Given the description of an element on the screen output the (x, y) to click on. 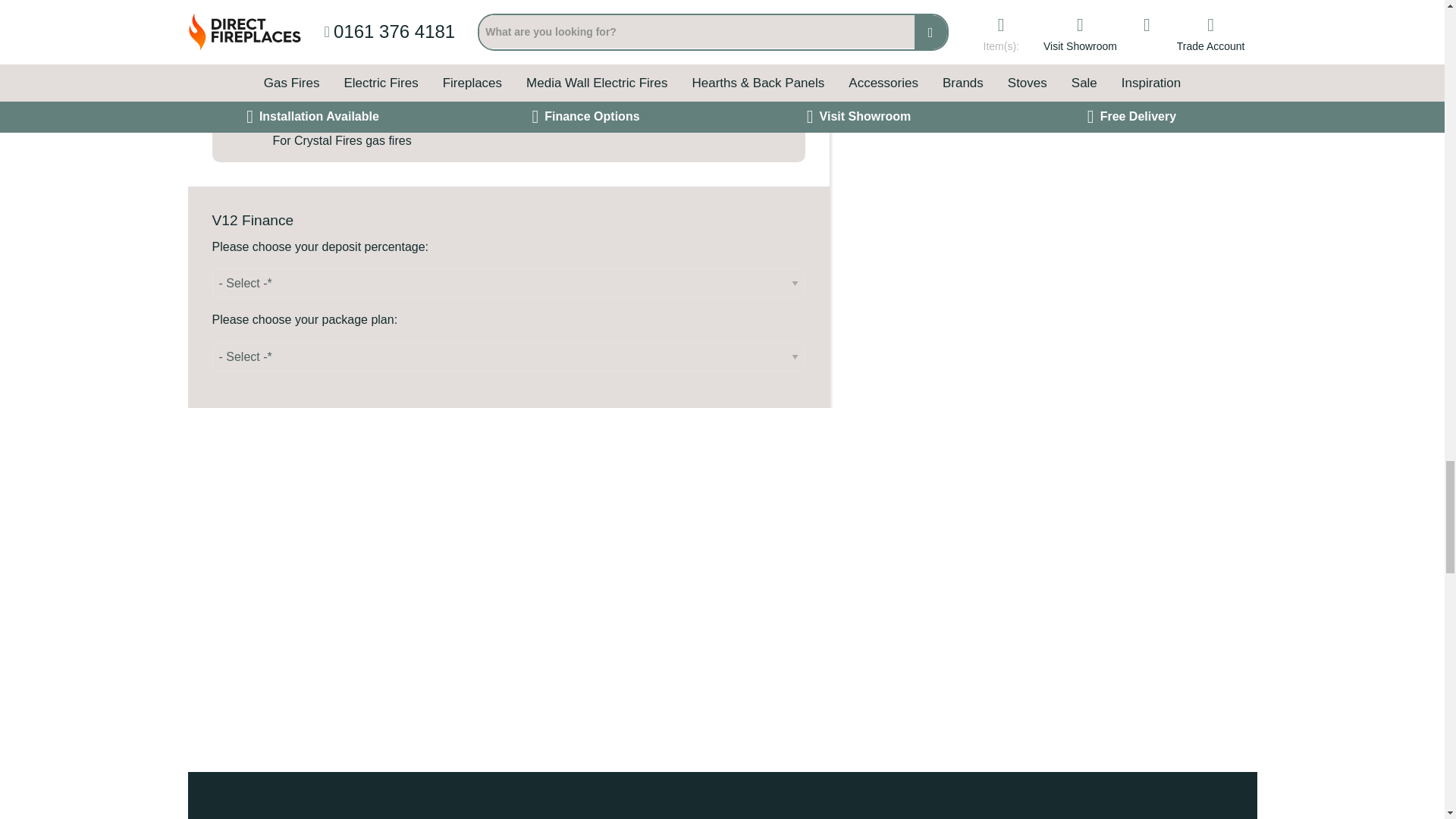
Crystal Fires Remote Control User Guide (411, 77)
